Given the description of an element on the screen output the (x, y) to click on. 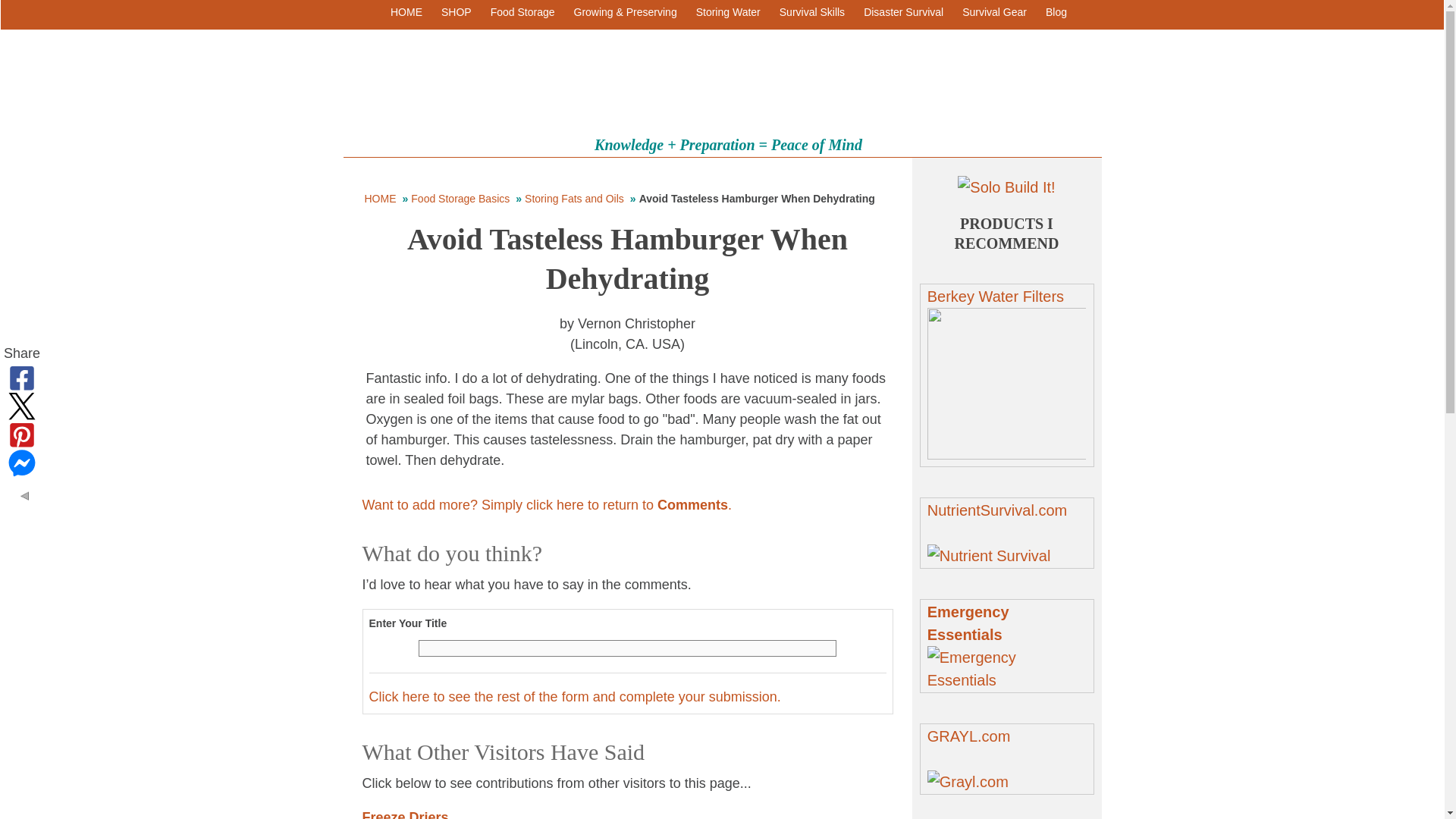
Berkey Water Filters (995, 296)
Want to add more? Simply click here to return to Comments. (547, 504)
Blog (1048, 12)
HOME (380, 198)
HOME (399, 12)
Food Storage Basics (459, 198)
Storing Fats and Oils (574, 198)
NutrientSurvival.com (997, 521)
Freeze Driers (405, 814)
